Given the description of an element on the screen output the (x, y) to click on. 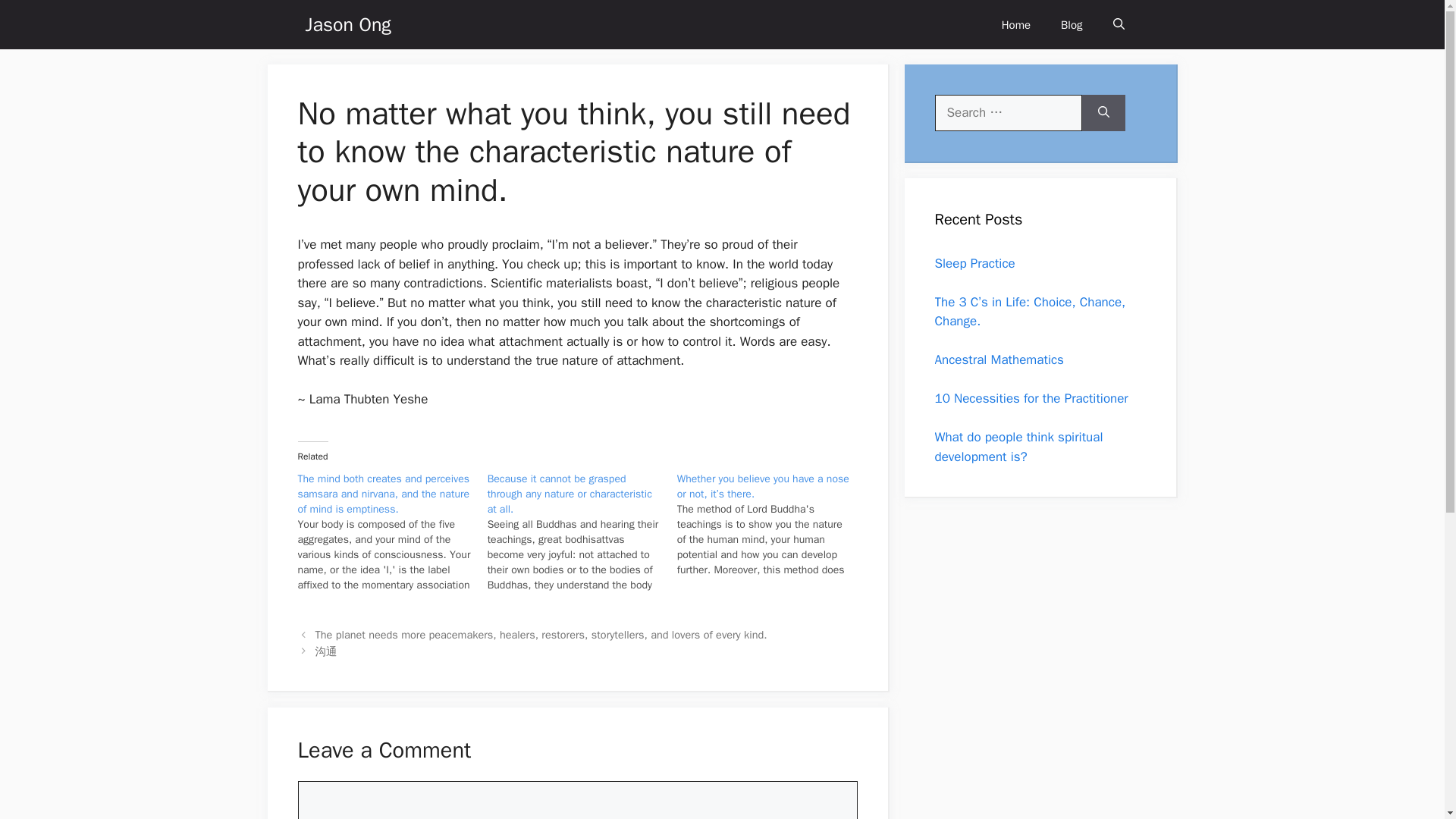
Next (326, 651)
Blog (1071, 23)
What do people think spiritual development is? (1018, 447)
Previous (541, 634)
Jason Ong (347, 24)
Sleep Practice (974, 262)
Ancestral Mathematics (998, 359)
Search for: (1007, 113)
